Given the description of an element on the screen output the (x, y) to click on. 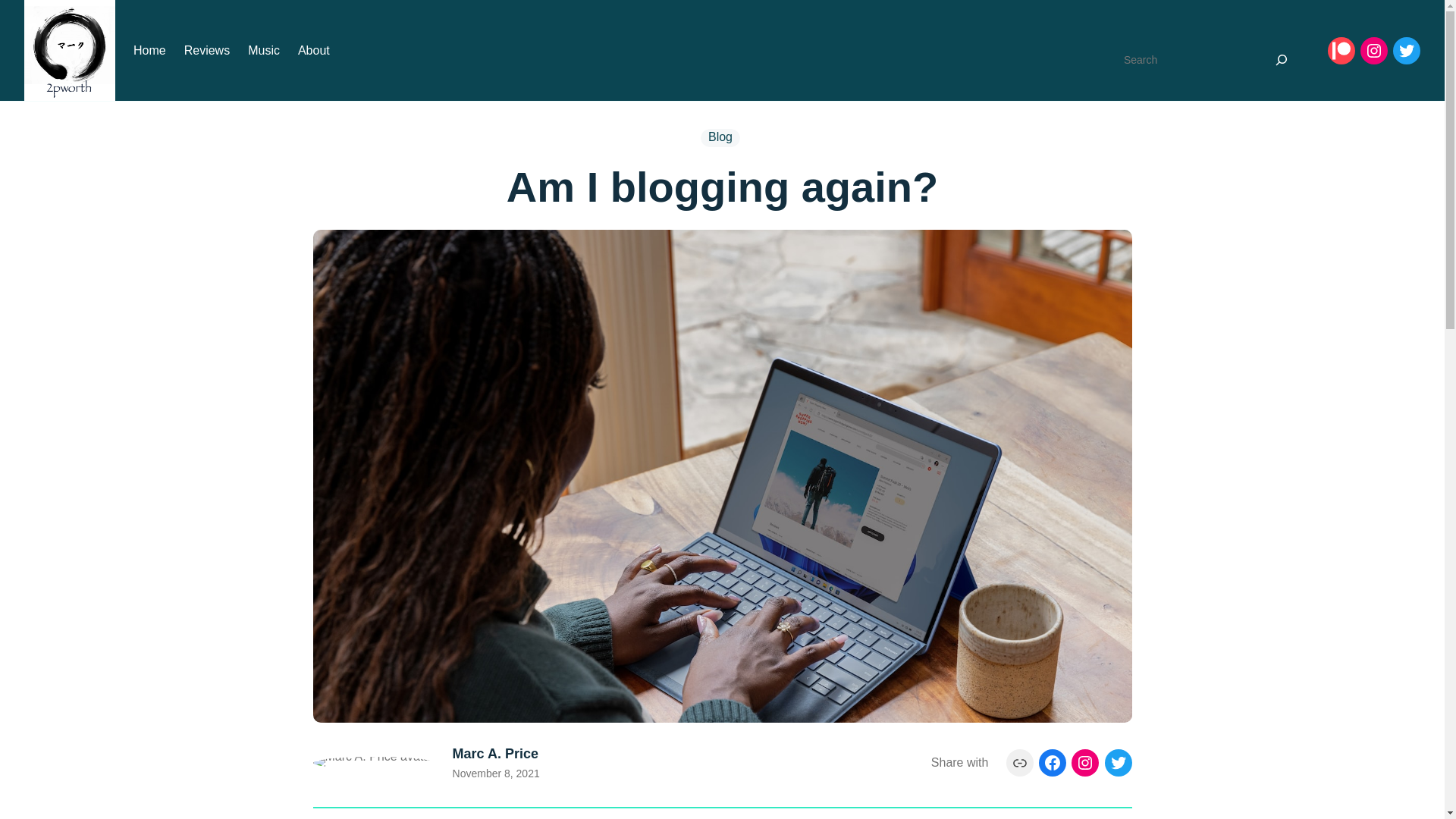
Twitter Element type: text (1406, 50)
Instagram Element type: text (1084, 762)
Facebook Element type: text (1052, 762)
Instagram Element type: text (1373, 50)
About Element type: text (313, 50)
Music Element type: text (263, 50)
Blog Element type: text (720, 137)
Twitter Element type: text (1117, 762)
Home Element type: text (149, 50)
Patreon Element type: text (1341, 50)
Reviews Element type: text (206, 50)
Link Element type: text (1019, 762)
